Given the description of an element on the screen output the (x, y) to click on. 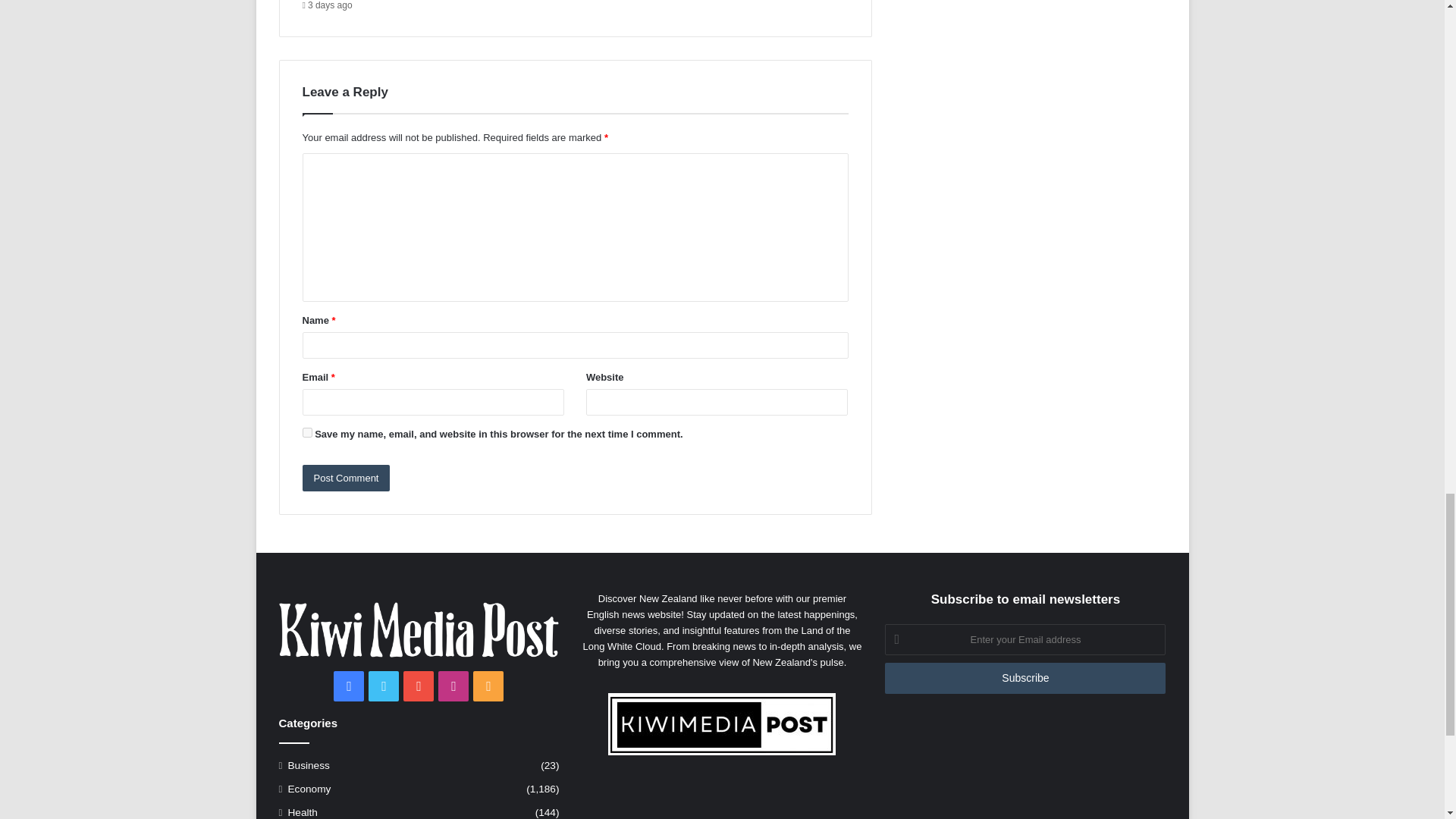
Post Comment (345, 478)
yes (306, 432)
Subscribe (1025, 677)
